Given the description of an element on the screen output the (x, y) to click on. 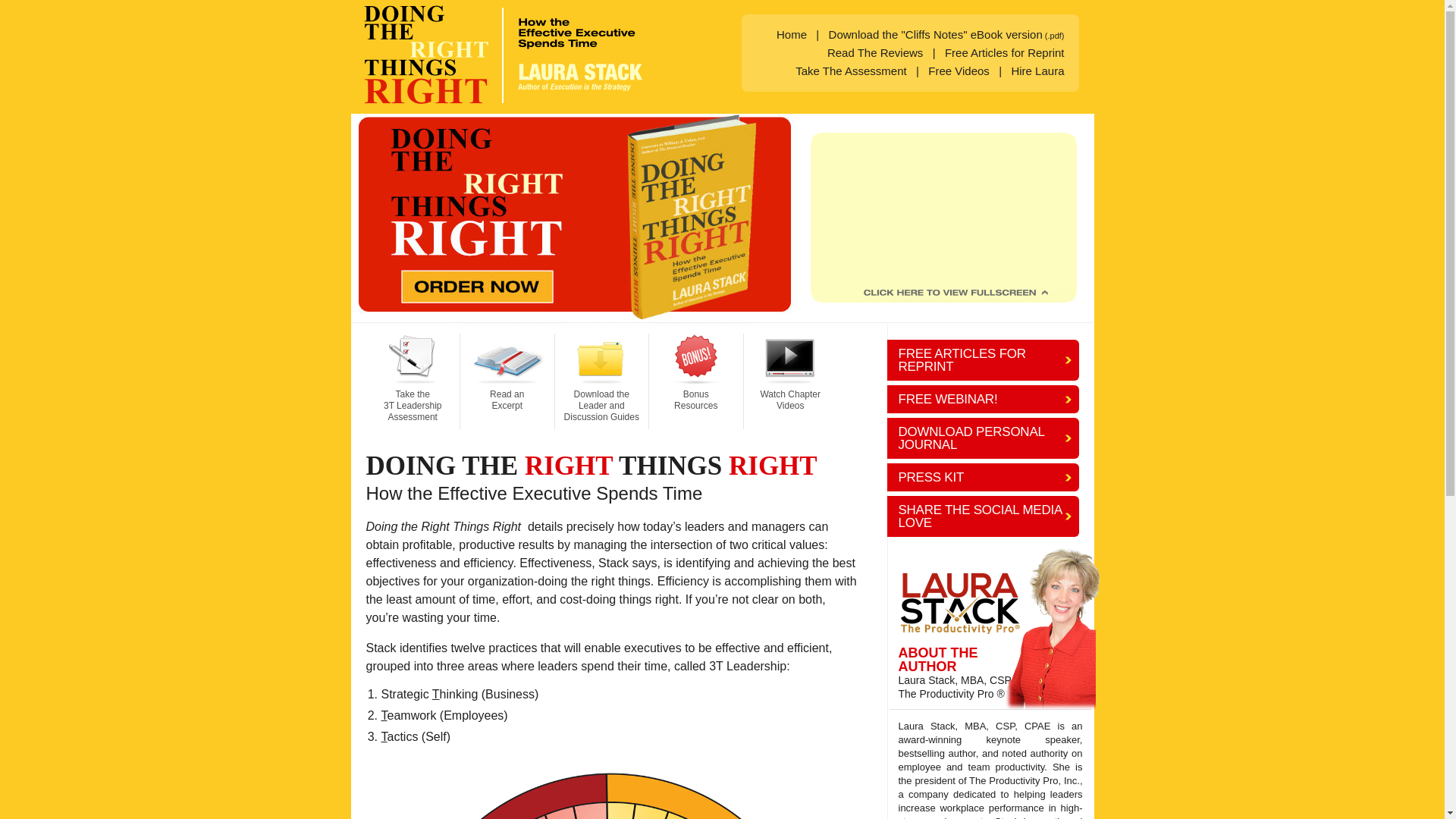
Order The Book Element type: hover (578, 316)
Read The Reviews Element type: text (874, 52)
Take the
3T Leadership
Assessment Element type: text (412, 381)
Download the
Leader and
Discussion Guides Element type: text (602, 381)
Watch Chapter
Videos Element type: text (790, 381)
Take The Assessment Element type: text (850, 70)
Bonus
Resources Element type: text (696, 381)
Home Element type: text (791, 34)
FREE WEBINAR! Element type: text (983, 399)
Free Articles for Reprint Element type: text (1004, 52)
FREE ARTICLES FOR REPRINT Element type: text (983, 359)
Free Videos Element type: text (958, 70)
Read an
Excerpt Element type: text (507, 381)
SHARE THE SOCIAL MEDIA LOVE Element type: text (983, 515)
PRESS KIT Element type: text (983, 477)
Download the "Cliffs Notes" eBook version (.pdf) Element type: text (946, 34)
DOWNLOAD PERSONAL JOURNAL Element type: text (983, 437)
Hire Laura Element type: text (1036, 70)
